Given the description of an element on the screen output the (x, y) to click on. 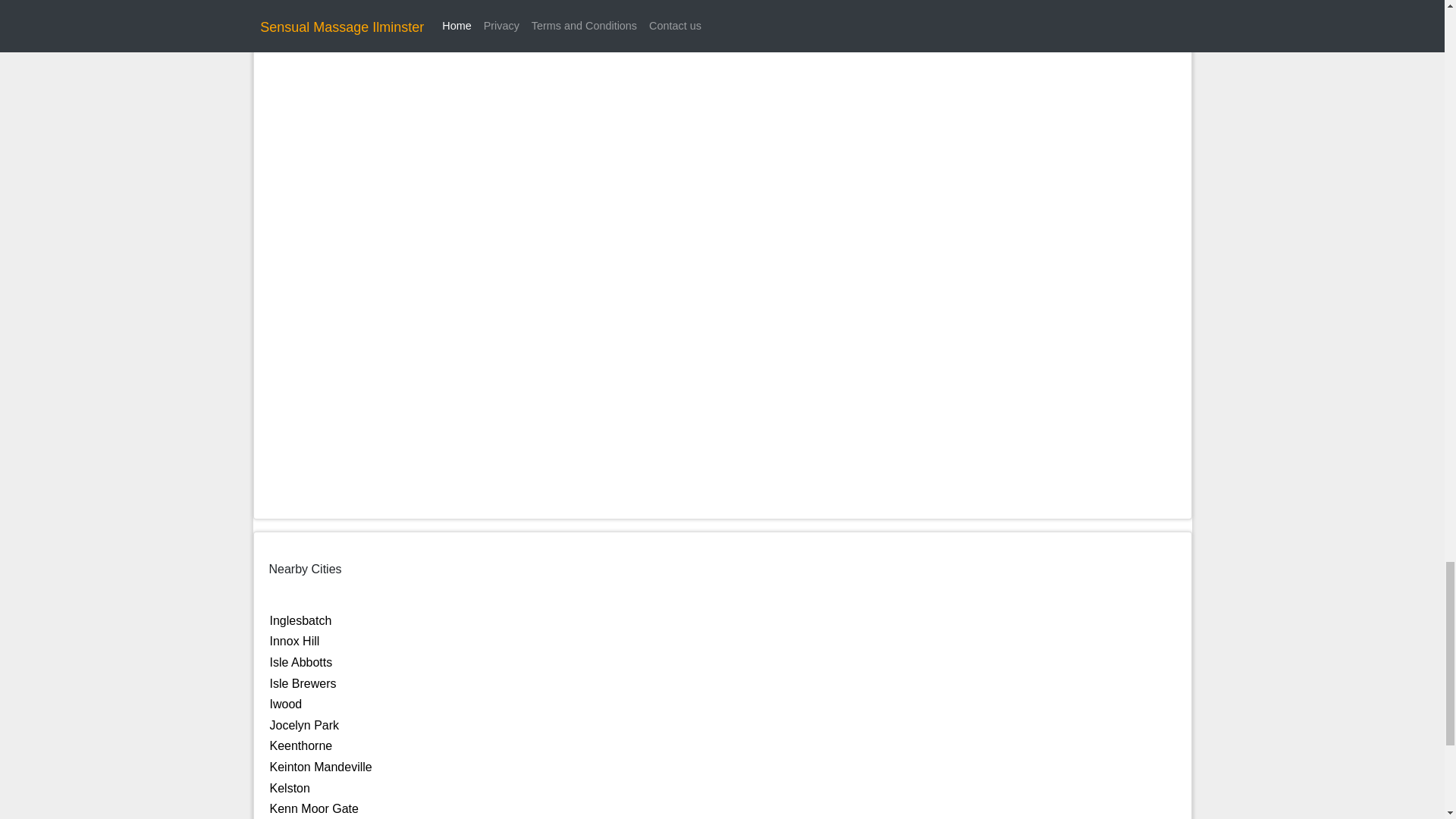
Kenn Moor Gate (313, 808)
Isle Abbotts (301, 662)
Innox Hill (294, 640)
Jocelyn Park (304, 725)
Kelston (289, 788)
Keinton Mandeville (320, 766)
Keenthorne (301, 745)
Iwood (285, 703)
Inglesbatch (300, 620)
Isle Brewers (302, 683)
